Given the description of an element on the screen output the (x, y) to click on. 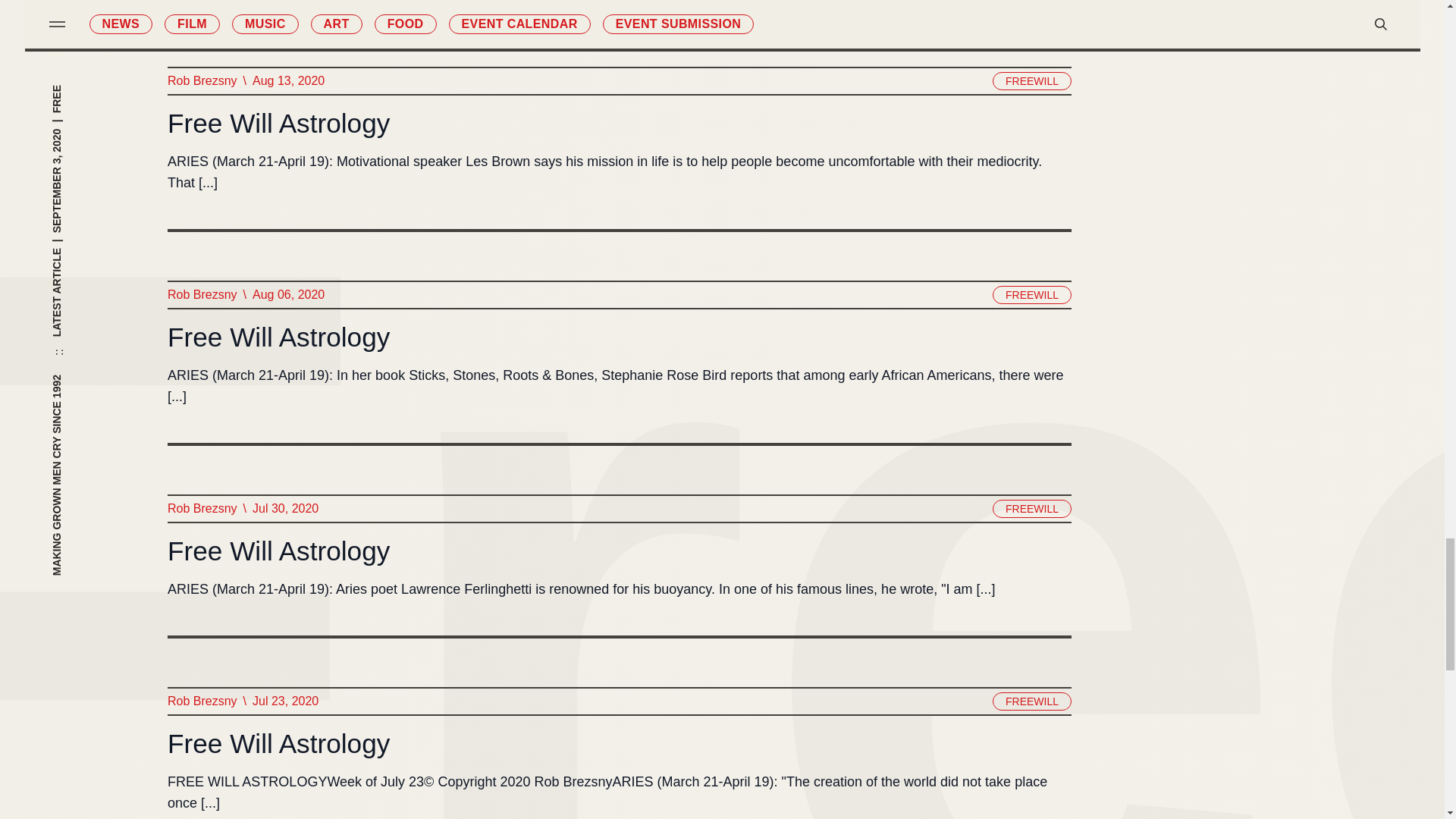
FREEWILL (1030, 81)
Rob Brezsny (201, 80)
